Given the description of an element on the screen output the (x, y) to click on. 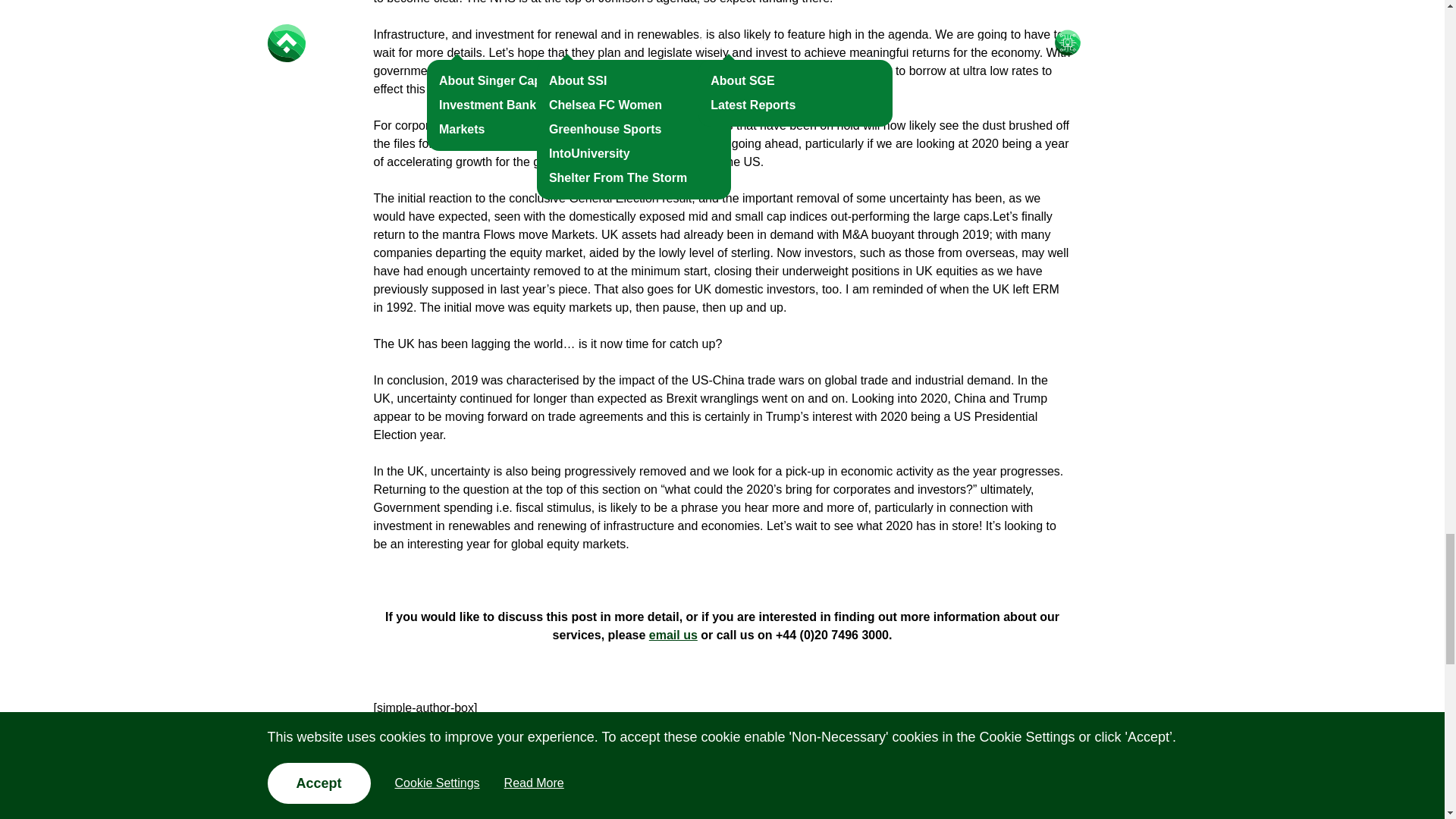
email us (673, 634)
